Given the description of an element on the screen output the (x, y) to click on. 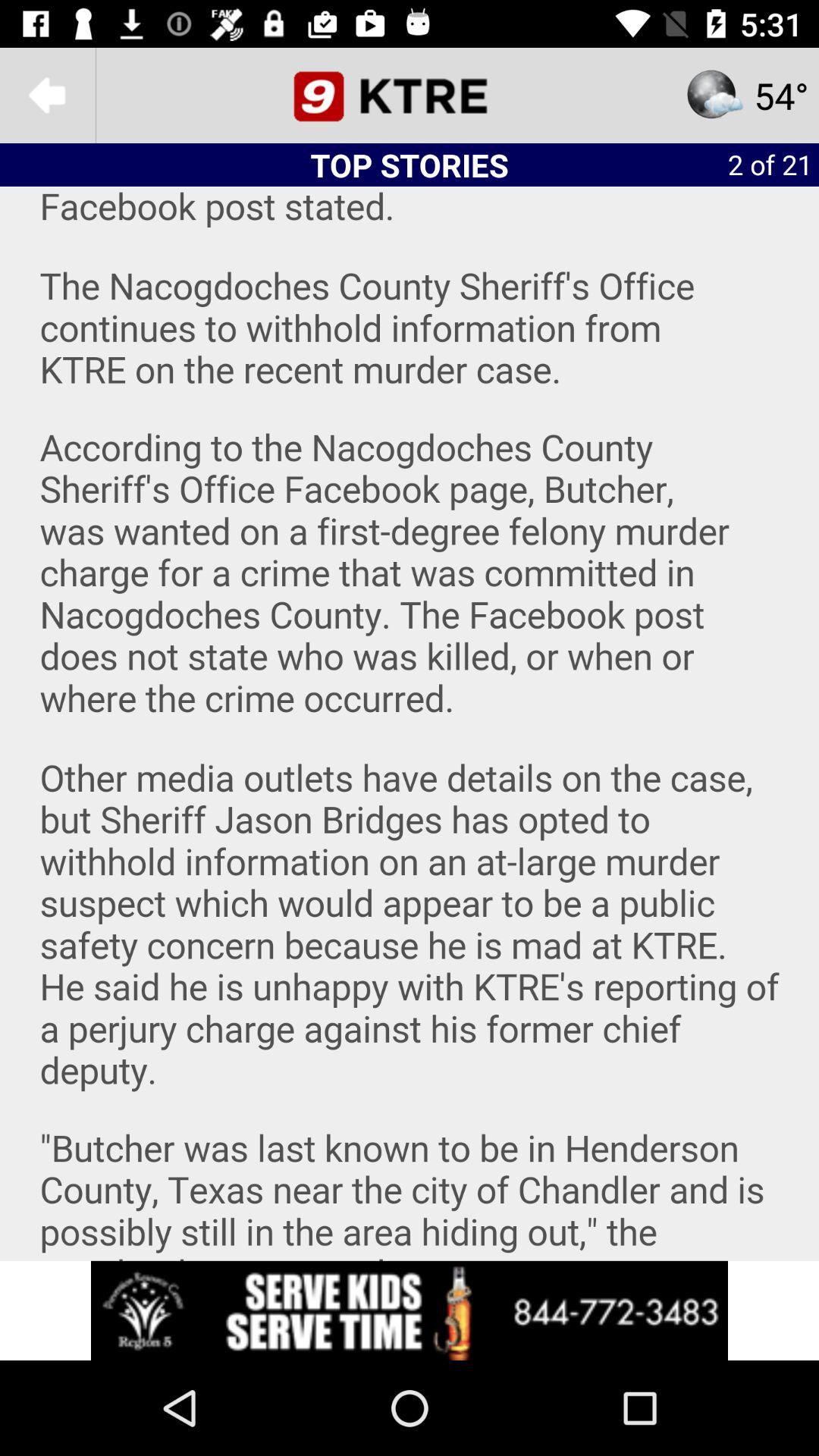
open the specific page (409, 95)
